Given the description of an element on the screen output the (x, y) to click on. 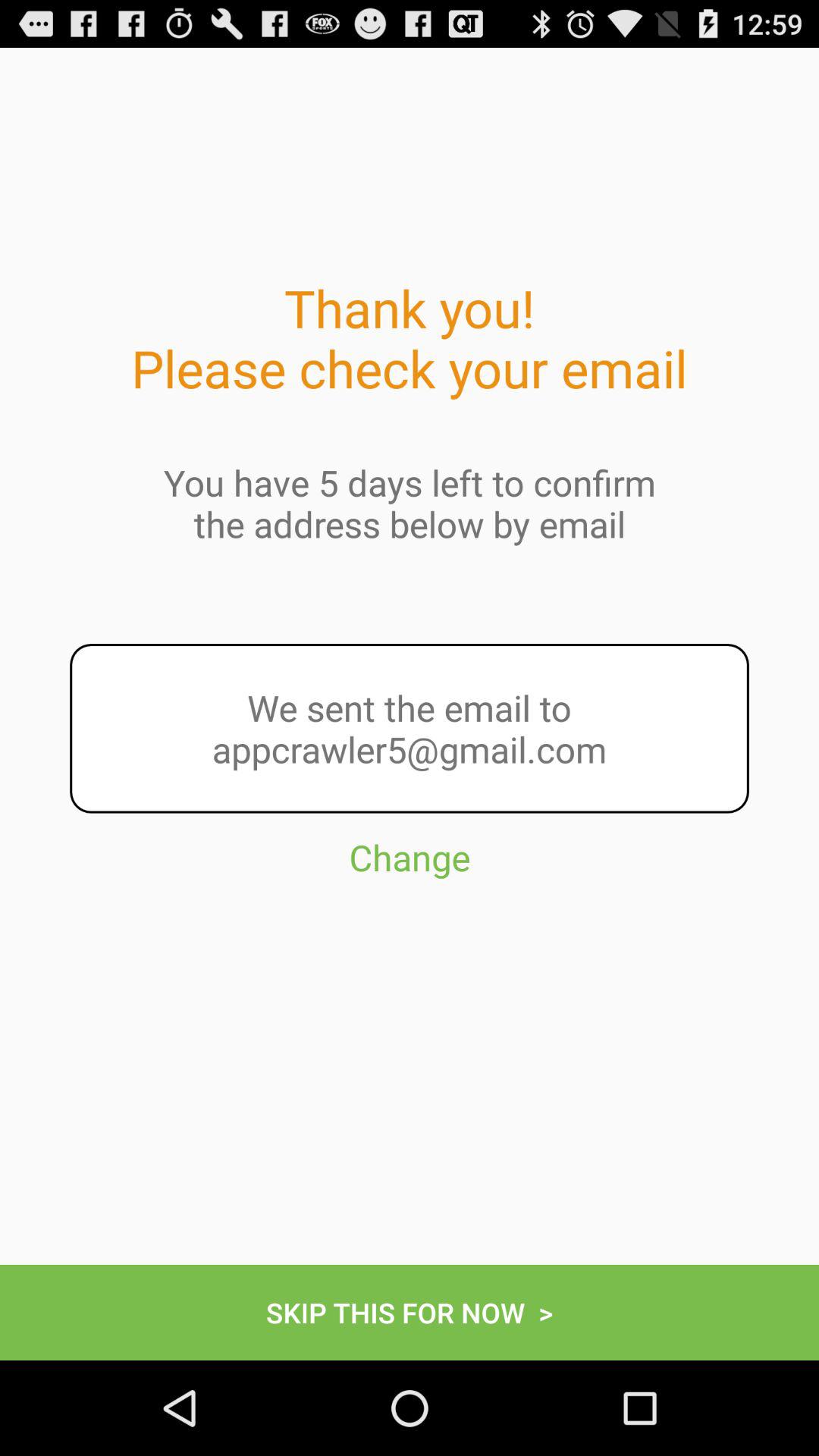
press the skip this for icon (409, 1312)
